Given the description of an element on the screen output the (x, y) to click on. 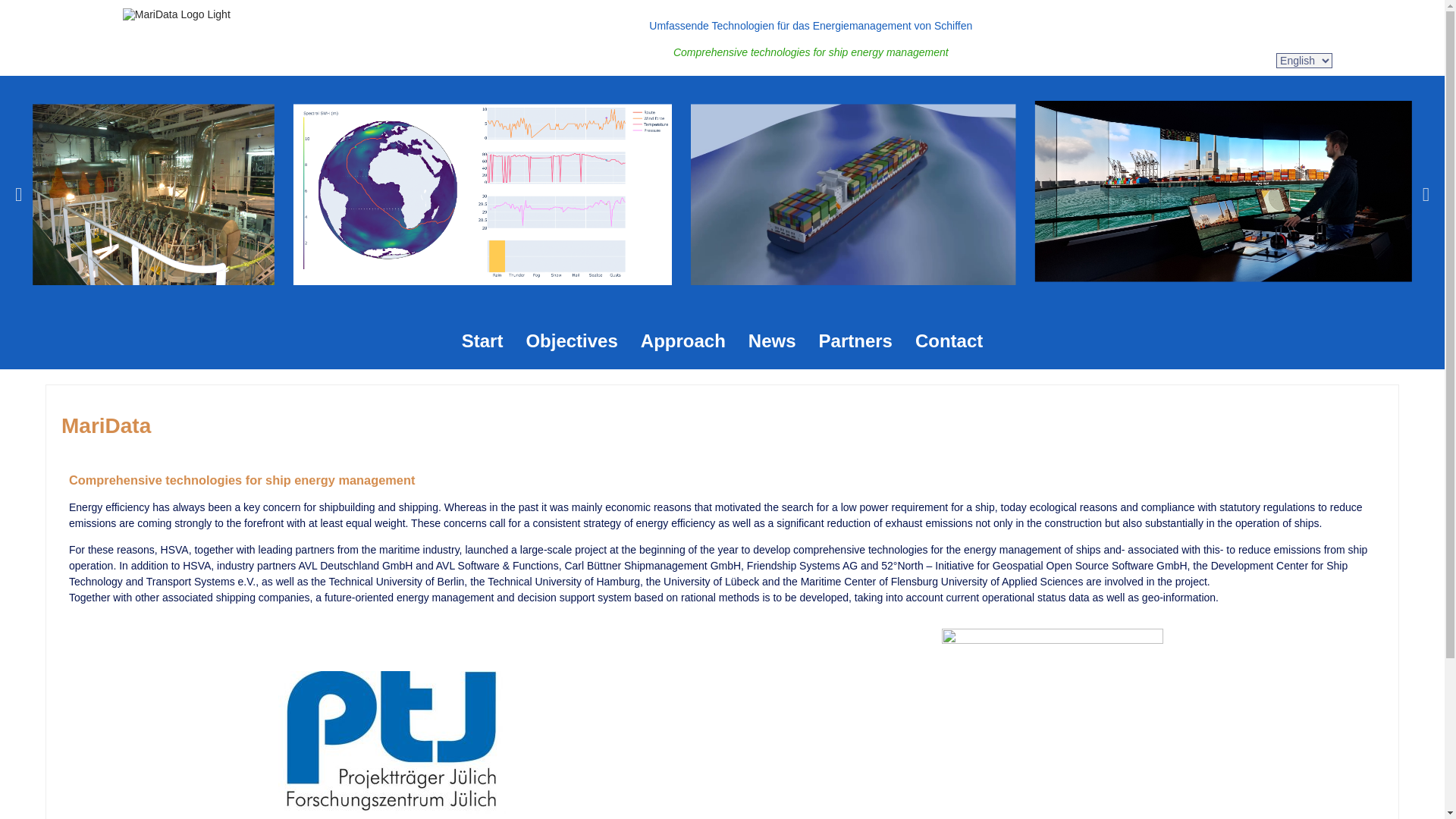
Partners (856, 341)
MariData Logo Light (176, 14)
News (772, 341)
Start (482, 341)
Approach (682, 341)
Objectives (570, 341)
Contact (949, 341)
